Given the description of an element on the screen output the (x, y) to click on. 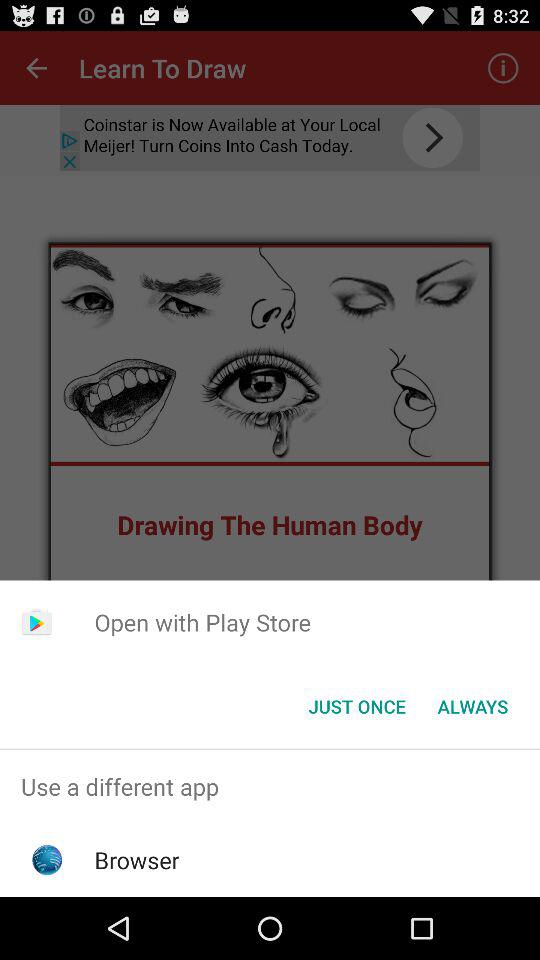
turn off the button next to the always (356, 706)
